Given the description of an element on the screen output the (x, y) to click on. 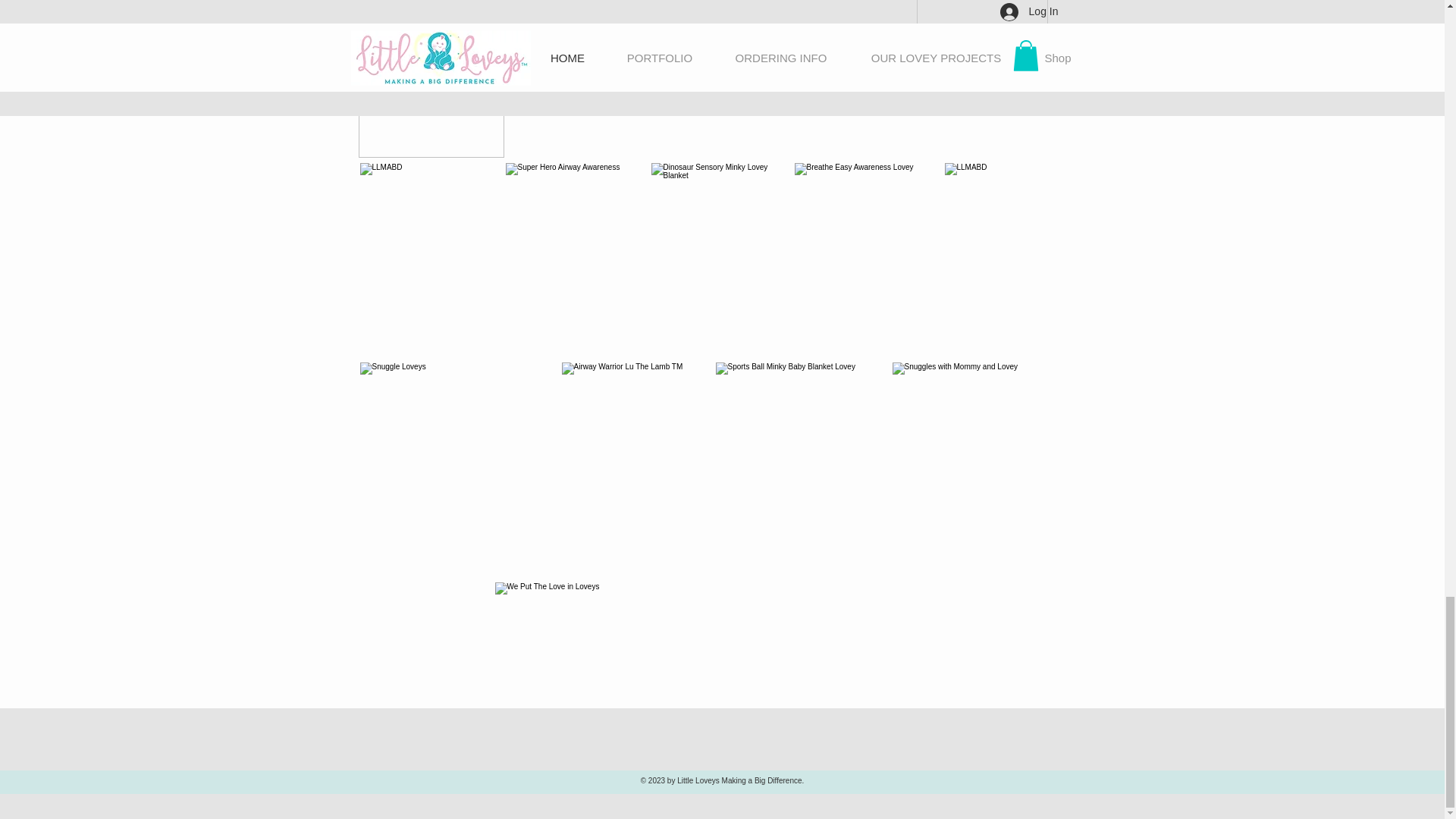
LLMABD 15 (430, 79)
Be Brave an Breathe (718, 79)
